Given the description of an element on the screen output the (x, y) to click on. 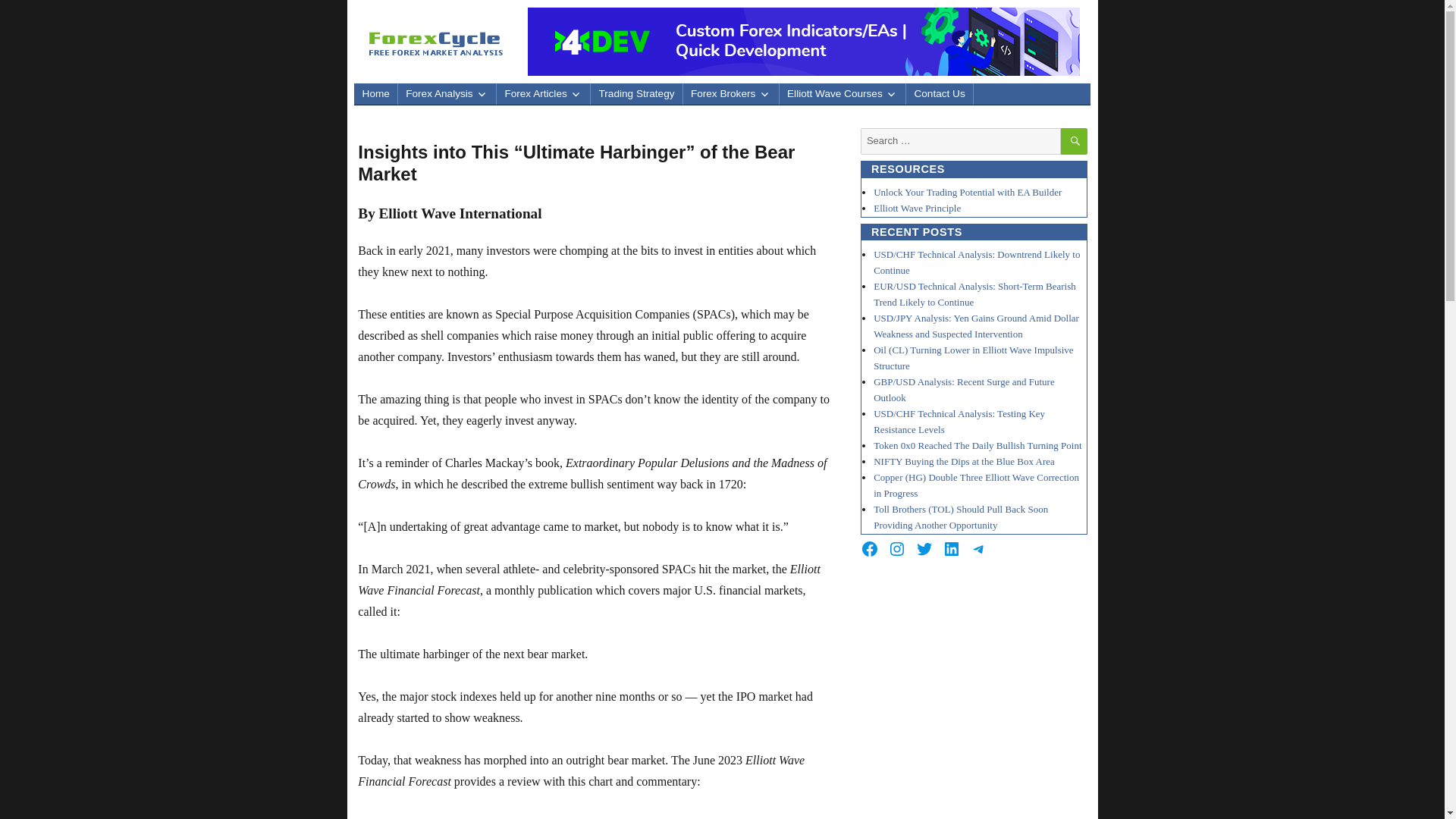
Trading Strategy (636, 93)
Forex Articles (542, 93)
Elliott Wave Courses (841, 93)
Home (375, 93)
Contact Us (938, 93)
Forex Analysis (446, 93)
Forex Brokers (730, 93)
